Given the description of an element on the screen output the (x, y) to click on. 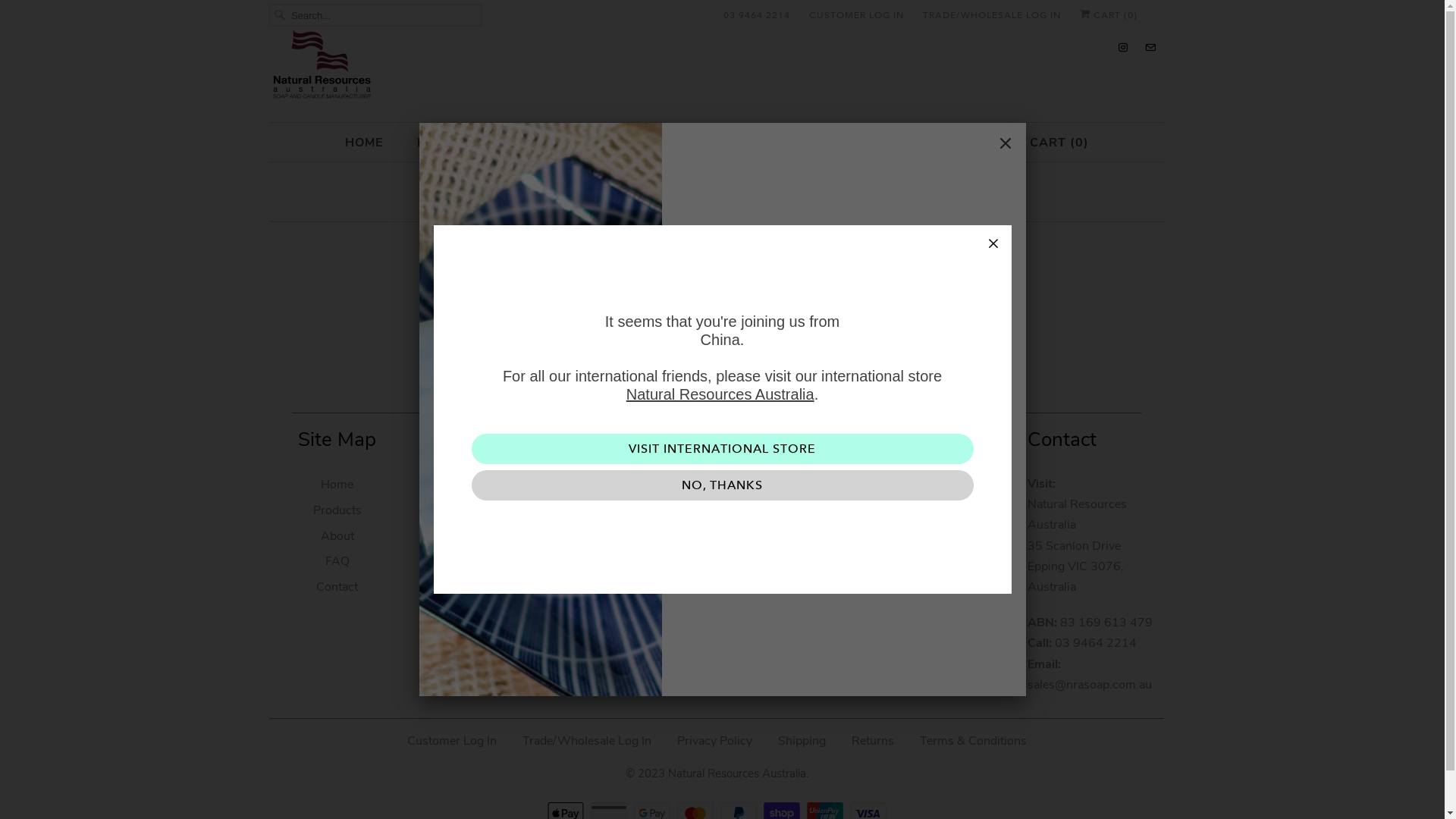
CART (0) Element type: text (1051, 142)
FAQ Element type: text (869, 142)
03 9464 2214 Element type: text (756, 14)
continue shopping Element type: text (767, 291)
Plant to Skin 100g Element type: text (489, 510)
Terms & Conditions Element type: text (972, 740)
NO, THANKS Element type: text (722, 485)
Soaps Element type: text (488, 484)
Email Natural Resources Australia Element type: hover (807, 616)
Returns Element type: text (871, 740)
Email Natural Resources Australia Element type: hover (1150, 47)
VISIT INTERNATIONAL STORE Element type: text (722, 448)
Products Element type: text (337, 510)
CONTRACT MANUFACTURING Element type: text (724, 142)
Close Element type: hover (1005, 143)
Trade/Wholesale Log In Element type: text (585, 740)
ABOUT Element type: text (569, 142)
Natural Resources Australia Element type: hover (716, 68)
Home Element type: text (336, 484)
TRADE/WHOLESALE LOG IN Element type: text (991, 14)
FAQ Element type: text (337, 560)
CART (0) Element type: text (1108, 14)
Natural Resources Australia on Instagram Element type: hover (777, 616)
Natural Resources Australia Element type: text (736, 767)
Candles Element type: text (488, 535)
HOME Element type: text (363, 142)
Shipping Element type: text (801, 740)
Customer Log In Element type: text (450, 740)
03 9464 2214 Element type: text (1095, 642)
CUSTOMER LOG IN Element type: text (856, 14)
Natural Resources Australia Element type: text (720, 393)
Sign Up Element type: text (842, 568)
About Element type: text (337, 535)
Sign Up Element type: text (912, 568)
Diffusers Element type: text (488, 560)
sales@nrasoap.com.au Element type: text (1089, 684)
Privacy Policy Element type: text (713, 740)
Contact Element type: text (336, 586)
CONTACT Element type: text (949, 142)
Natural Resources Australia on Instagram Element type: hover (1122, 47)
